Given the description of an element on the screen output the (x, y) to click on. 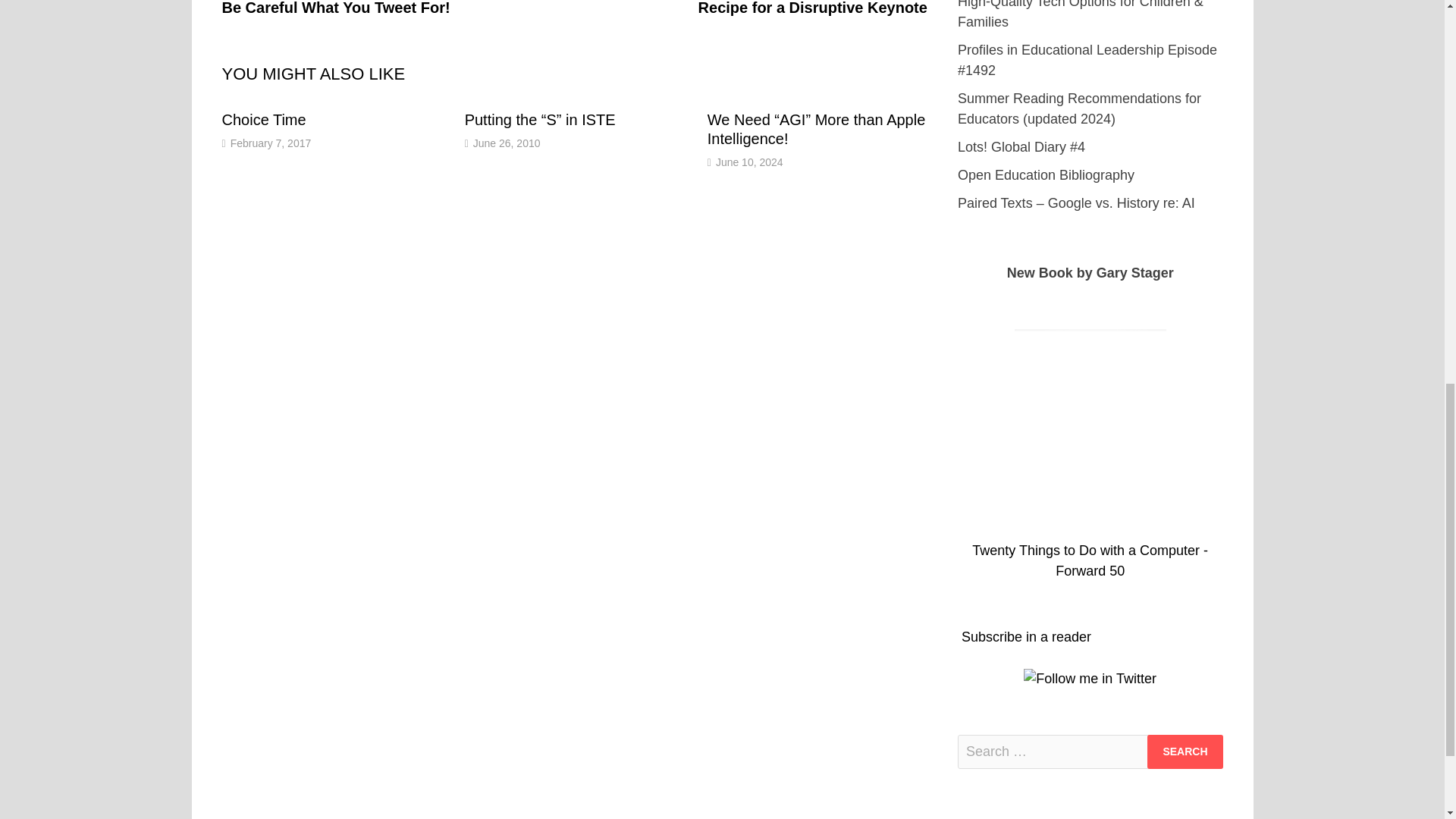
Choice Time (263, 119)
Search (1185, 751)
Search (1185, 751)
